Given the description of an element on the screen output the (x, y) to click on. 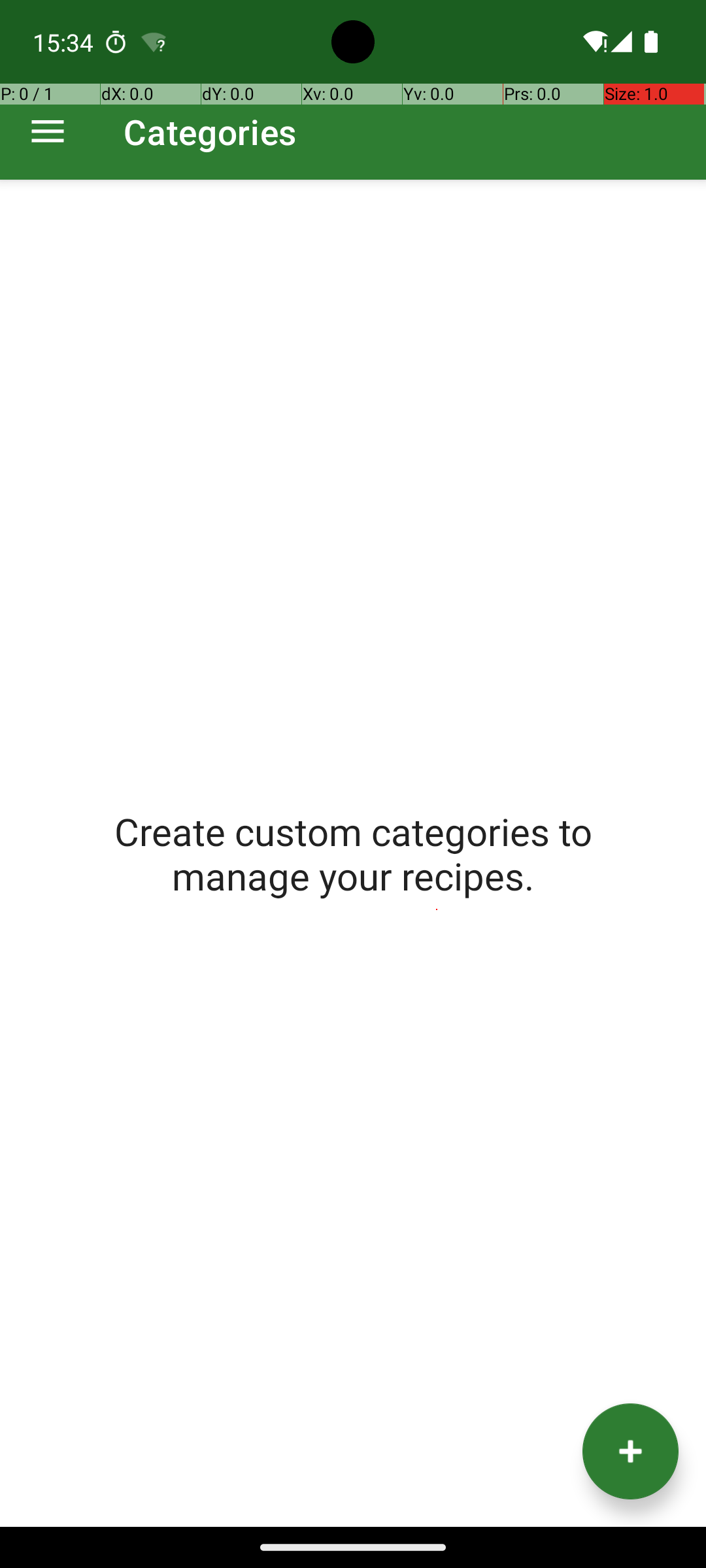
Create custom categories to manage your recipes. Element type: android.widget.TextView (353, 852)
Add category Element type: android.widget.ImageButton (630, 1451)
